Given the description of an element on the screen output the (x, y) to click on. 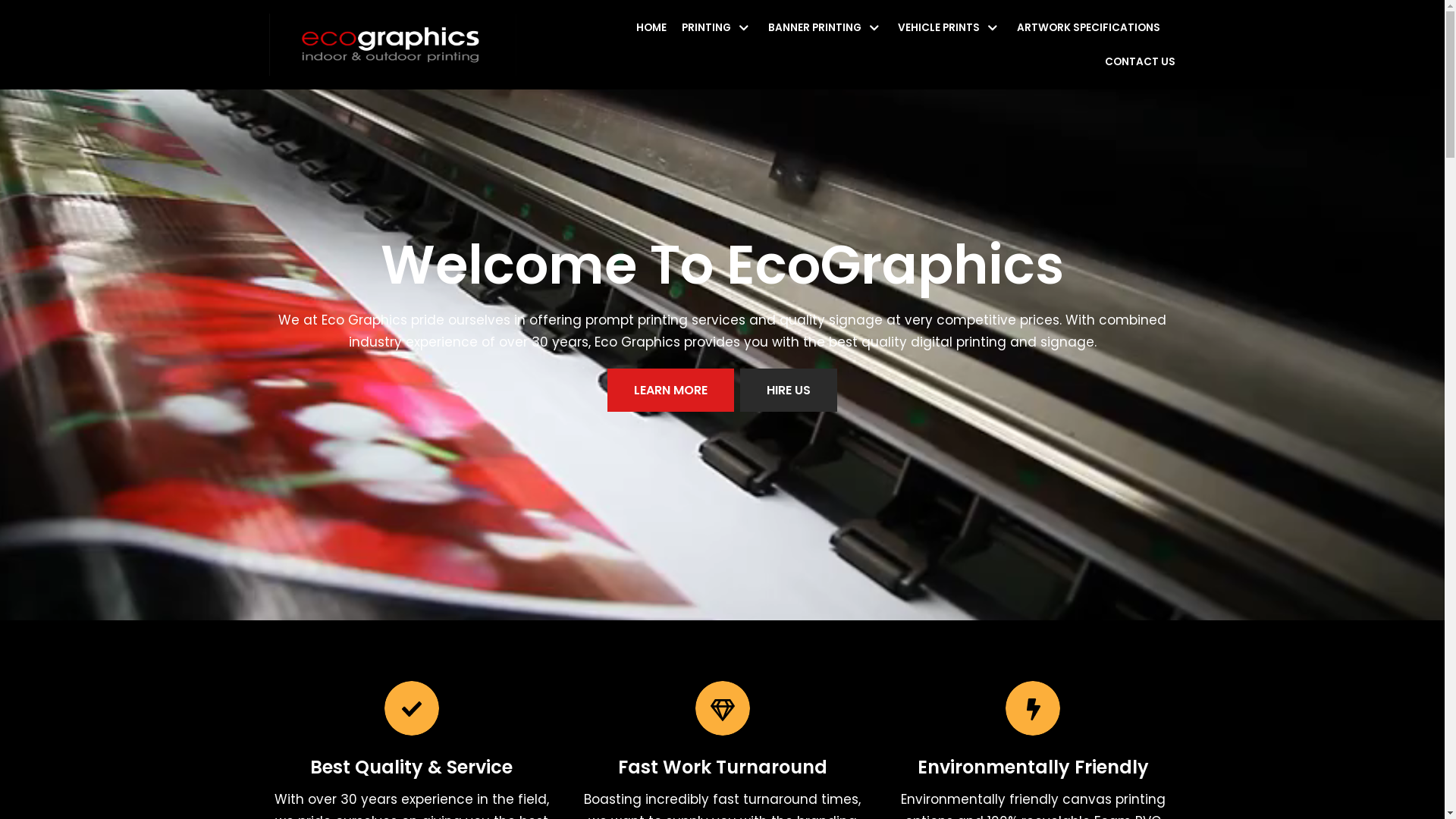
LEARN MORE Element type: text (670, 389)
HOME Element type: text (651, 27)
VEHICLE PRINTS Element type: text (949, 27)
CONTACT US Element type: text (1139, 61)
Skip to content Element type: text (15, 31)
BANNER PRINTING Element type: text (825, 27)
HIRE US Element type: text (788, 389)
ARTWORK SPECIFICATIONS Element type: text (1088, 27)
PRINTING Element type: text (717, 27)
